Given the description of an element on the screen output the (x, y) to click on. 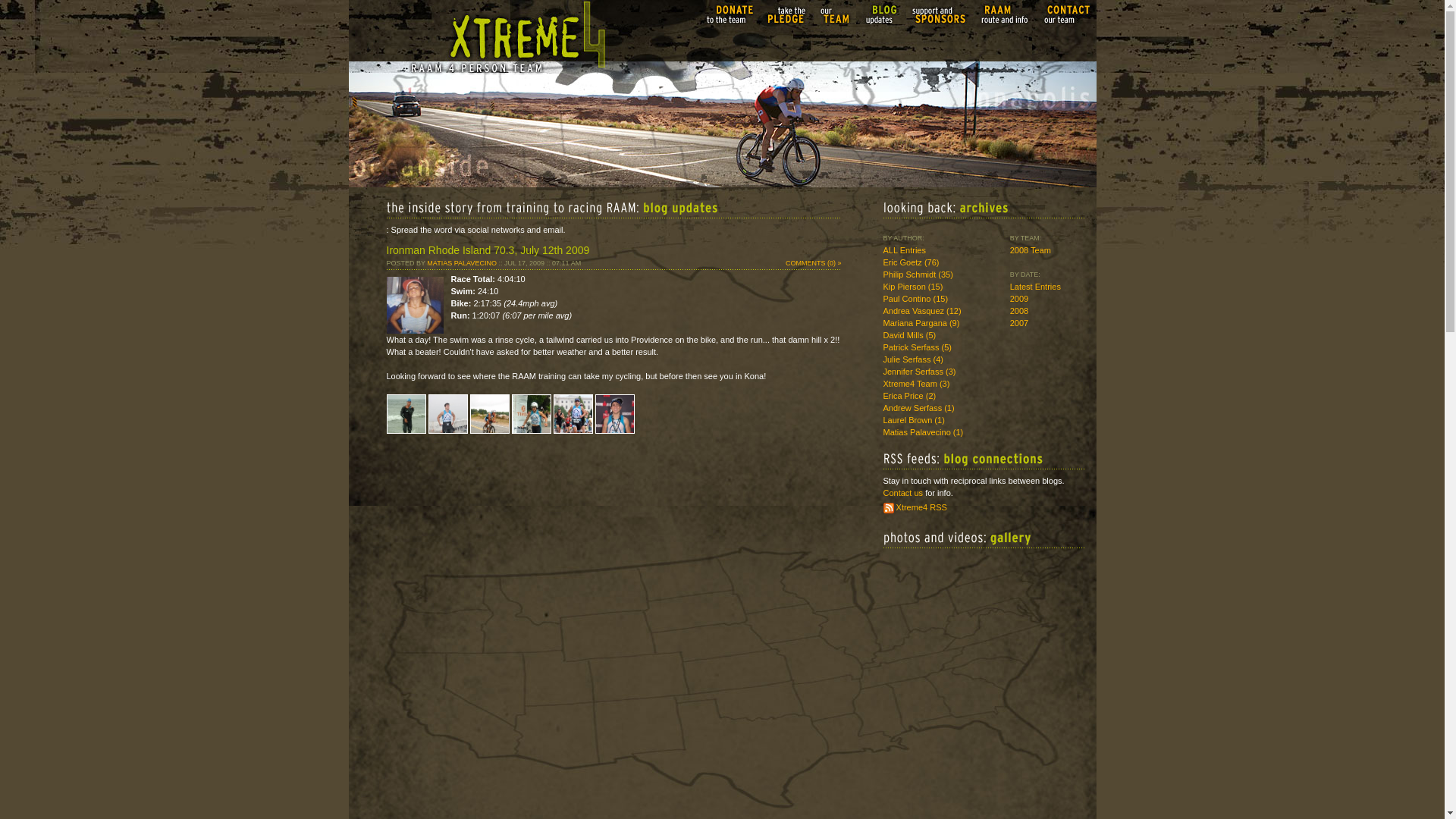
MATIAS PALAVECINO (461, 262)
2008 Team (1030, 249)
2009 (1018, 298)
2008 (1018, 310)
Latest Entries (1035, 286)
ALL Entries (903, 249)
